Given the description of an element on the screen output the (x, y) to click on. 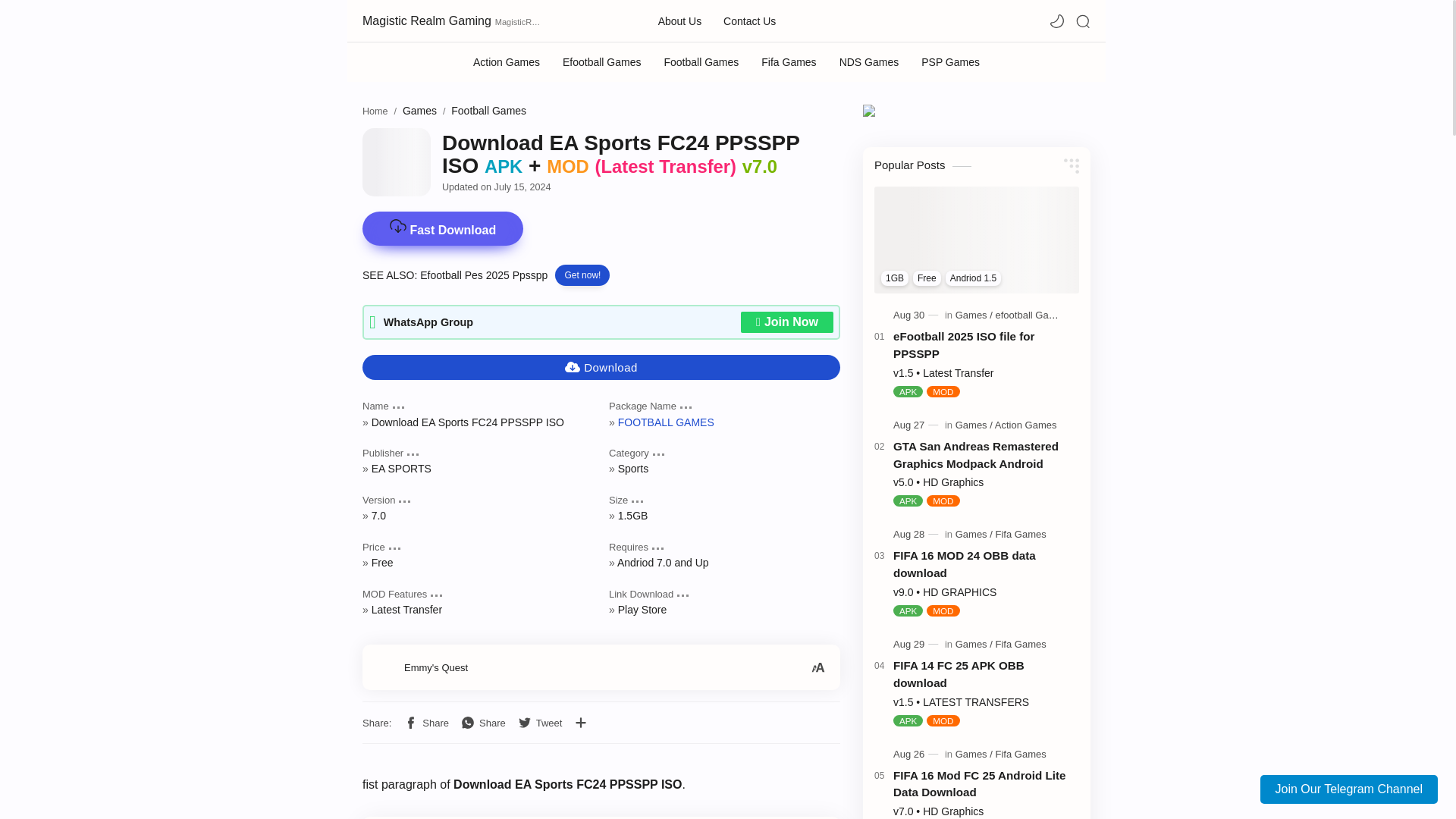
Football Games (488, 110)
About Us (679, 21)
FOOTBALL GAMES (665, 421)
Home (375, 111)
Magistic Realm Gaming (427, 20)
Games (419, 110)
Get now! (582, 274)
Fast Download (442, 229)
